Given the description of an element on the screen output the (x, y) to click on. 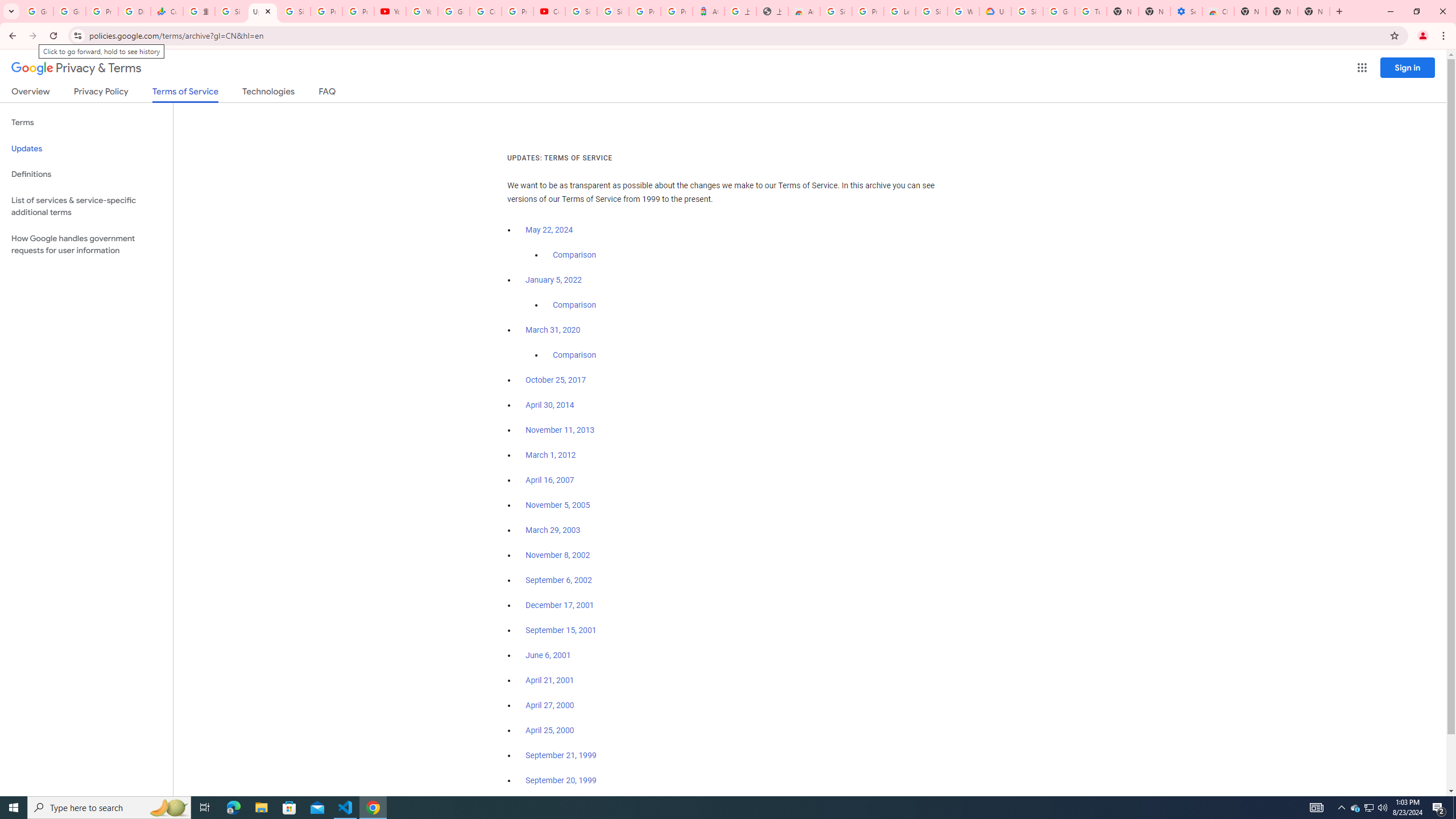
Privacy Checkup (358, 11)
December 17, 2001 (559, 605)
Sign in - Google Accounts (294, 11)
YouTube (389, 11)
April 16, 2007 (550, 480)
September 6, 2002 (558, 579)
May 22, 2024 (549, 230)
April 25, 2000 (550, 729)
Google Workspace Admin Community (37, 11)
